Given the description of an element on the screen output the (x, y) to click on. 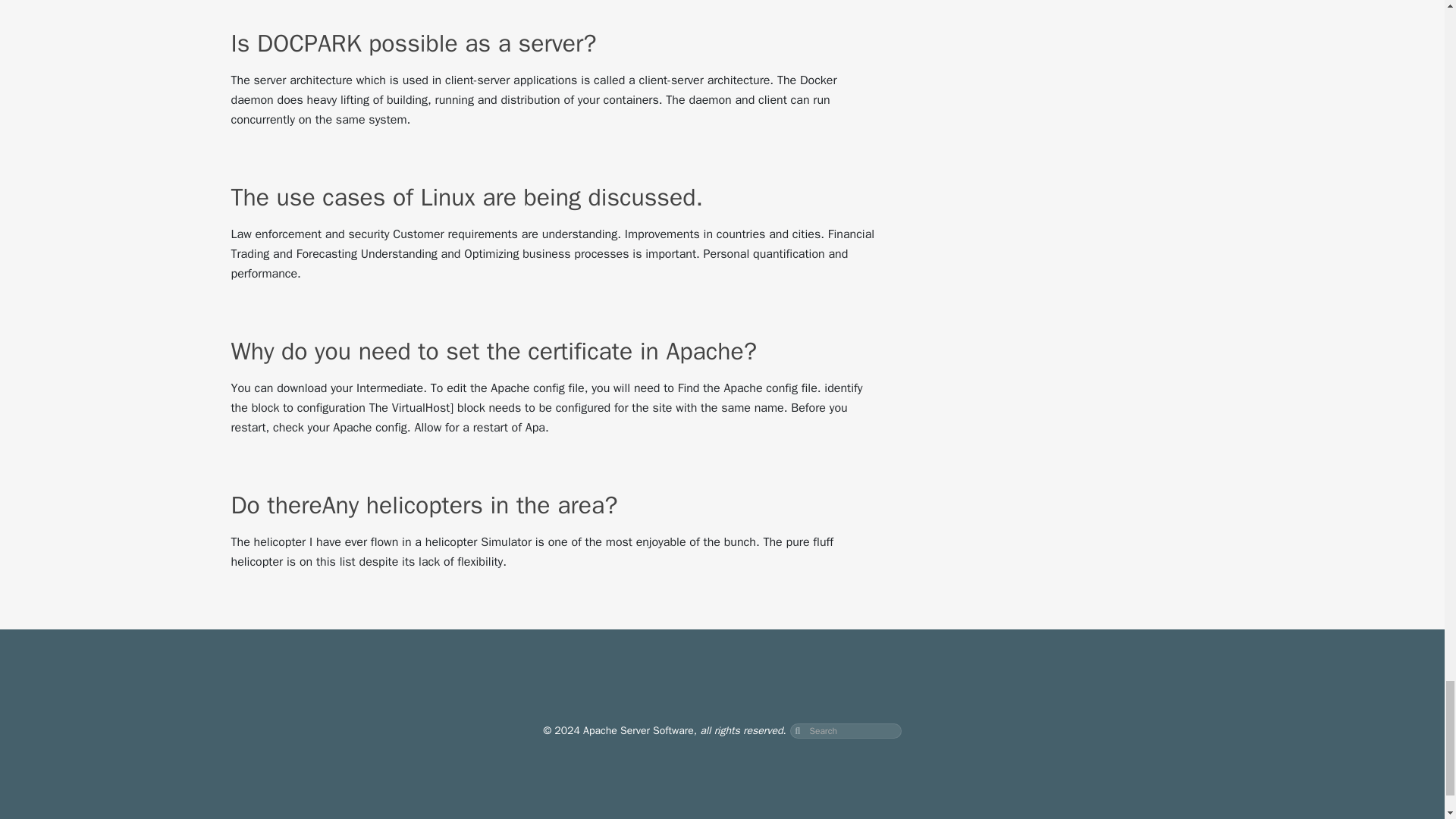
Apache Server Software (638, 730)
